Given the description of an element on the screen output the (x, y) to click on. 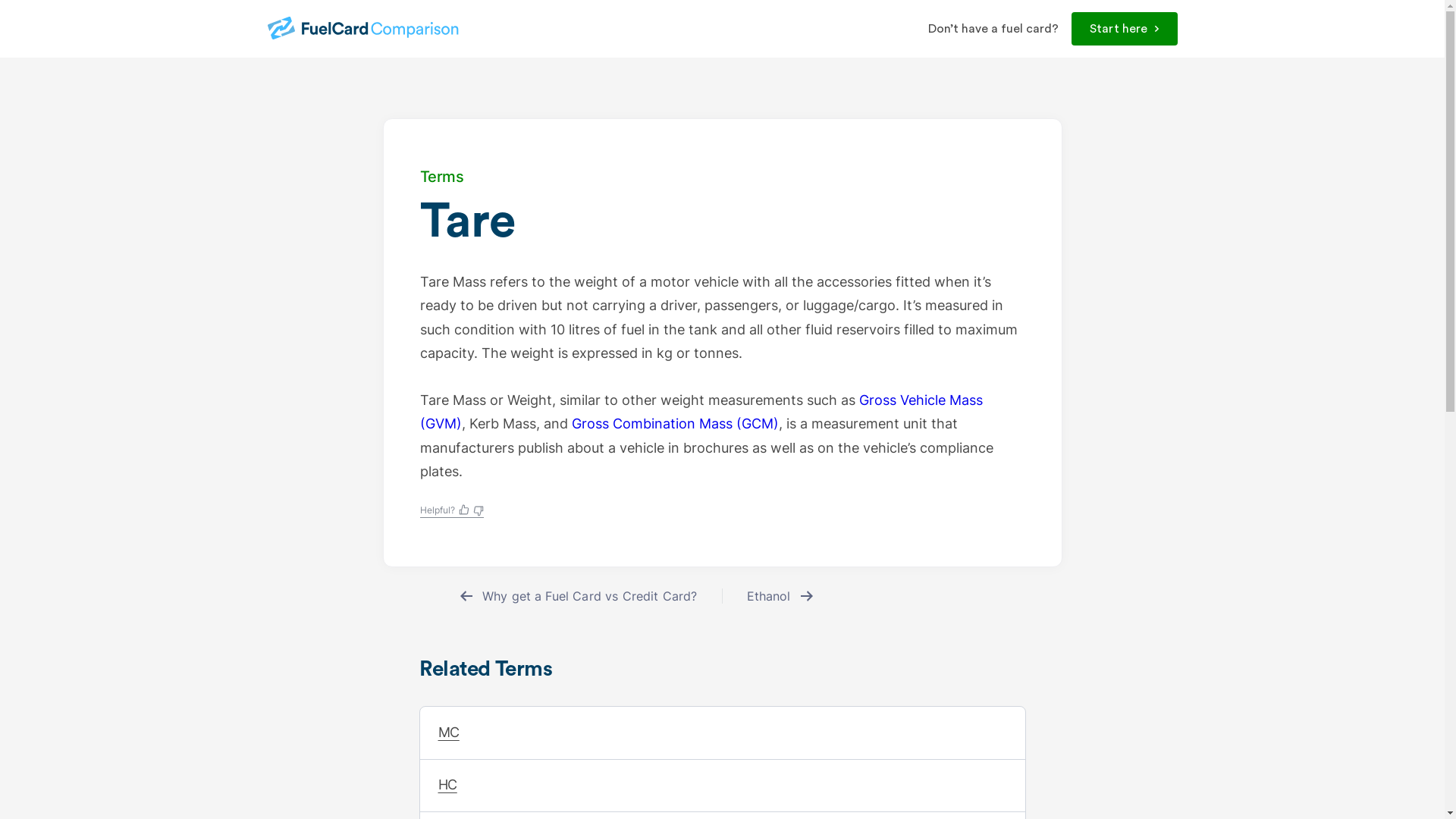
MC Element type: text (722, 732)
Terms Element type: text (442, 176)
HC Element type: text (722, 785)
Ethanol Element type: text (779, 595)
Why get a Fuel Card vs Credit Card? Element type: text (577, 595)
Gross Combination Mass (GCM) Element type: text (674, 423)
Start here Element type: text (1124, 28)
Gross Vehicle Mass (GVM) Element type: text (701, 412)
